Given the description of an element on the screen output the (x, y) to click on. 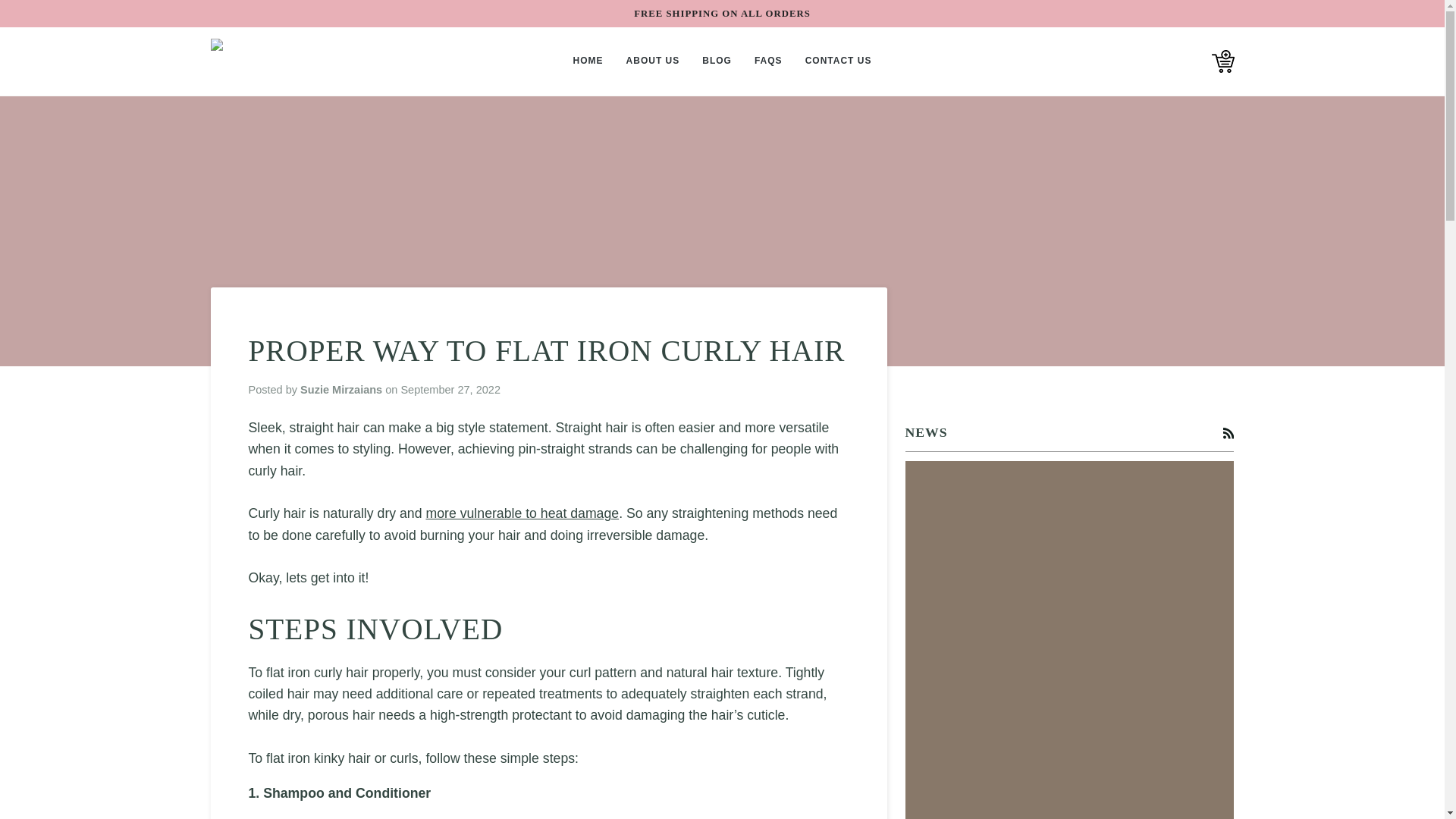
ABOUT US (652, 61)
CONTACT US (838, 61)
Hair care routine for damaged hair (521, 513)
more vulnerable to heat damage (521, 513)
